Given the description of an element on the screen output the (x, y) to click on. 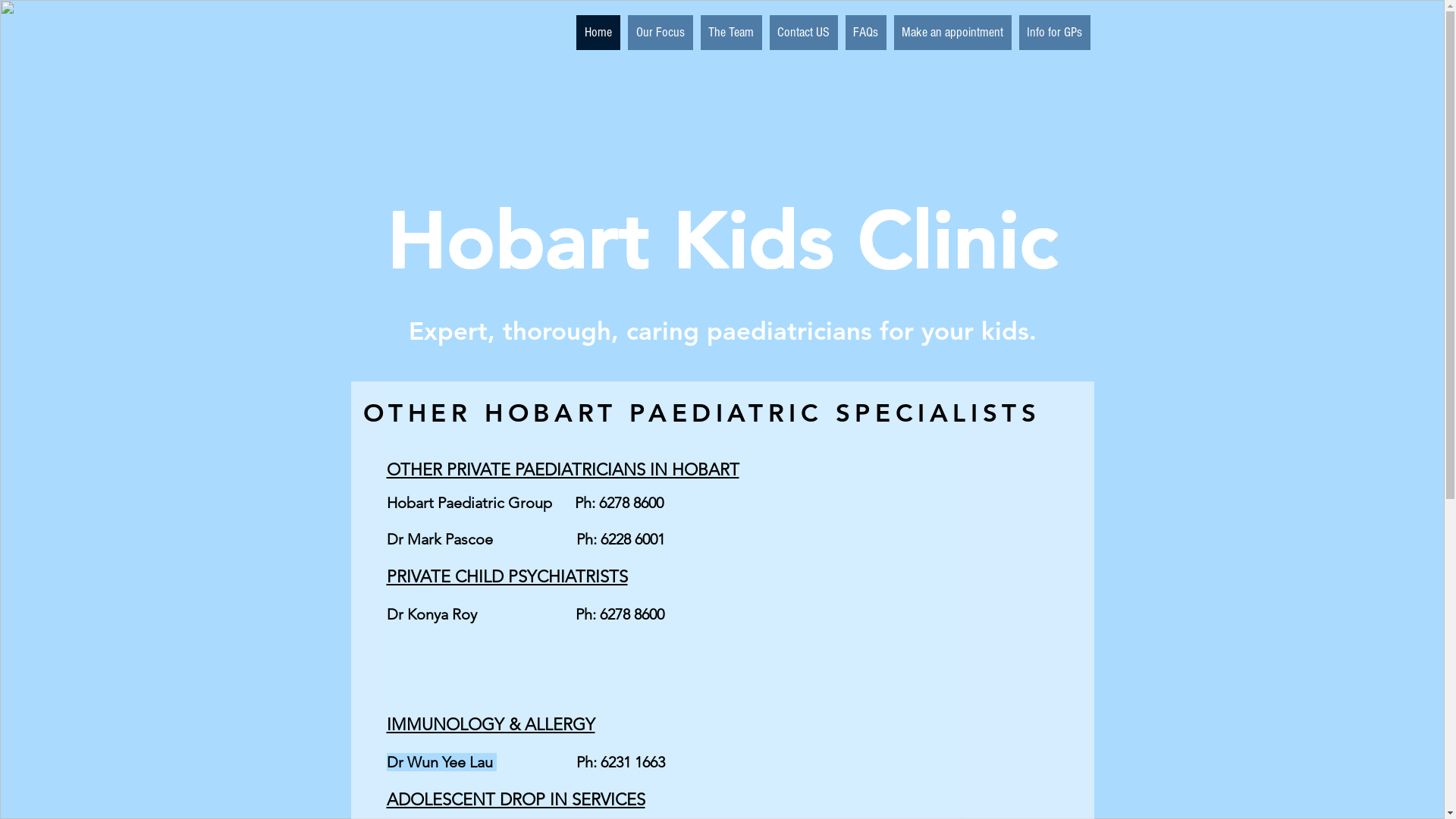
Dr Wun Yee Lau  Element type: text (441, 762)
The Team Element type: text (731, 32)
Home Element type: text (598, 32)
Make an appointment Element type: text (951, 32)
Our Focus Element type: text (660, 32)
FAQs Element type: text (864, 32)
Info for GPs Element type: text (1054, 32)
Contact US Element type: text (802, 32)
